Given the description of an element on the screen output the (x, y) to click on. 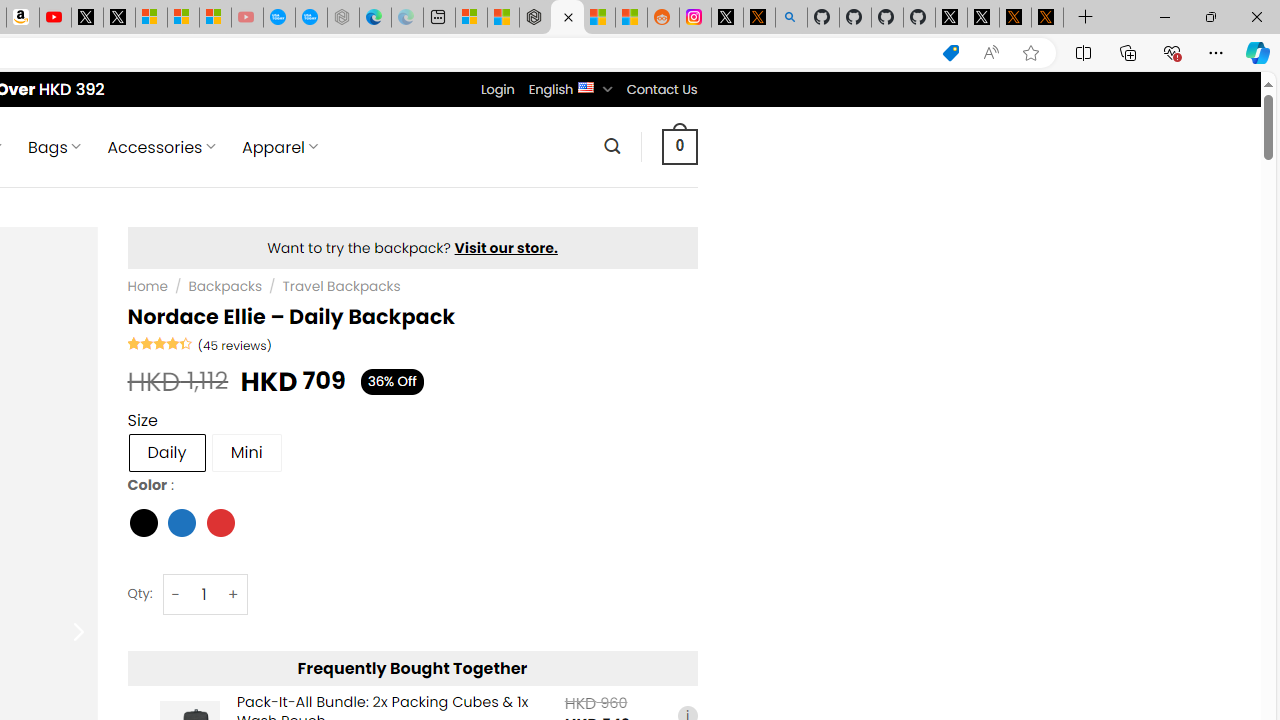
github - Search (791, 17)
Login (497, 89)
Login (497, 89)
Profile / X (950, 17)
The most popular Google 'how to' searches (310, 17)
Day 1: Arriving in Yemen (surreal to be here) - YouTube (54, 17)
(45 reviews) (234, 344)
Nordace Ellie - Daily Backpack (566, 17)
 0  (679, 146)
